Given the description of an element on the screen output the (x, y) to click on. 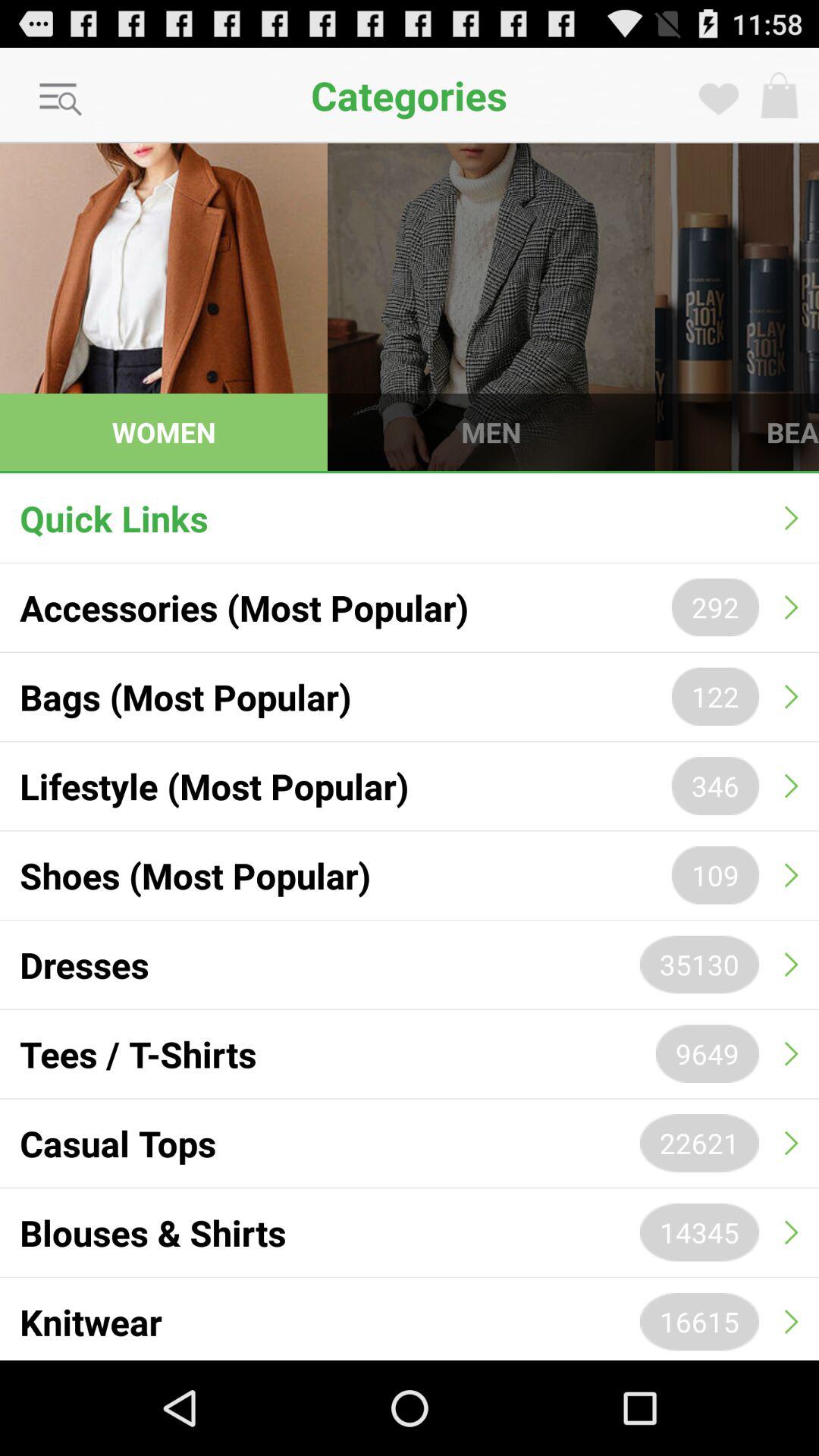
turn on app to the left of the categories app (61, 100)
